Given the description of an element on the screen output the (x, y) to click on. 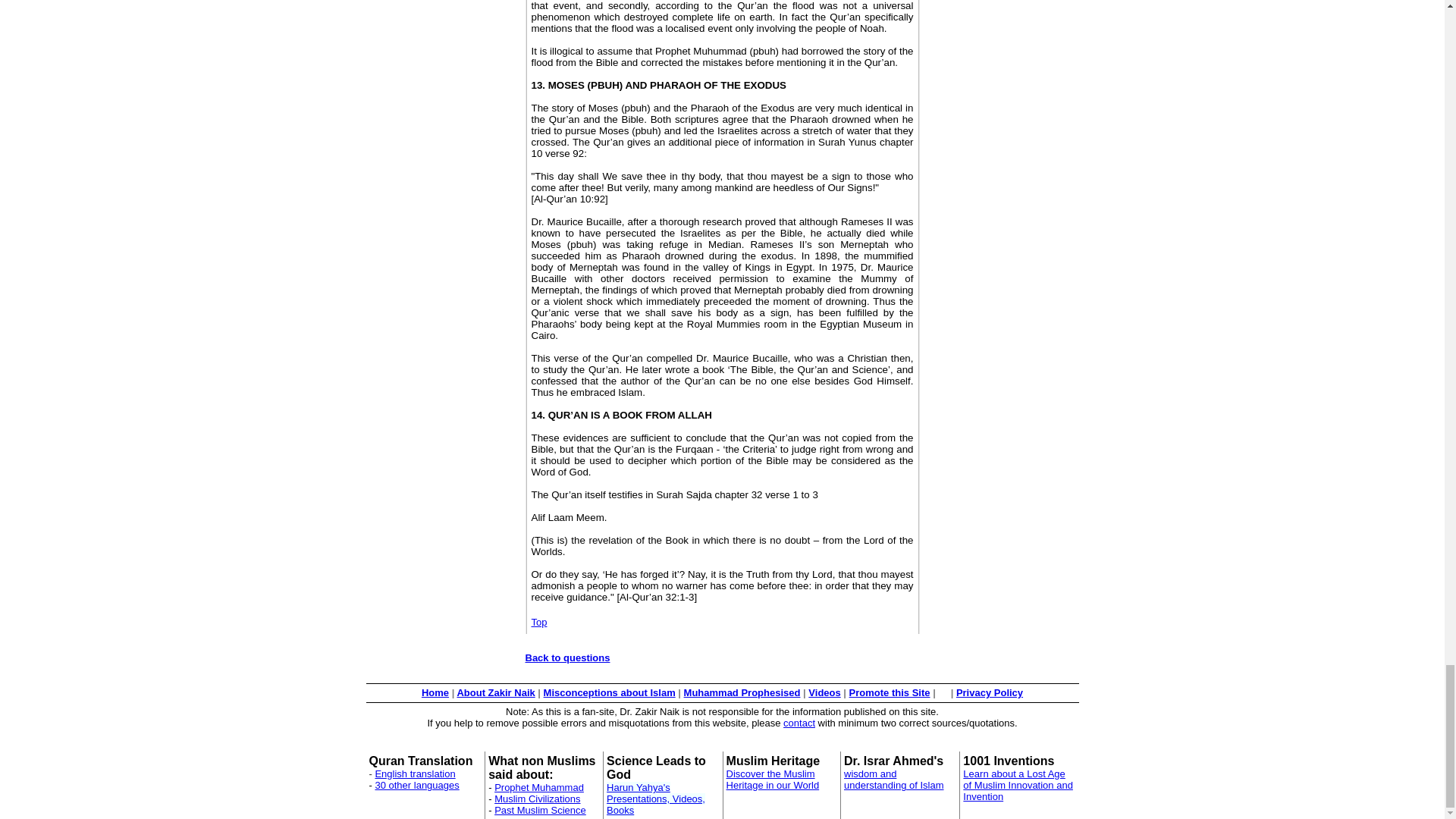
About Zakir Naik (495, 692)
Top (539, 622)
Privacy Policy (989, 692)
Back to questions (567, 657)
Muhammad Prophesised (742, 692)
Misconceptions about Islam (609, 692)
Home (435, 692)
Promote this Site (889, 692)
Videos (824, 692)
